Given the description of an element on the screen output the (x, y) to click on. 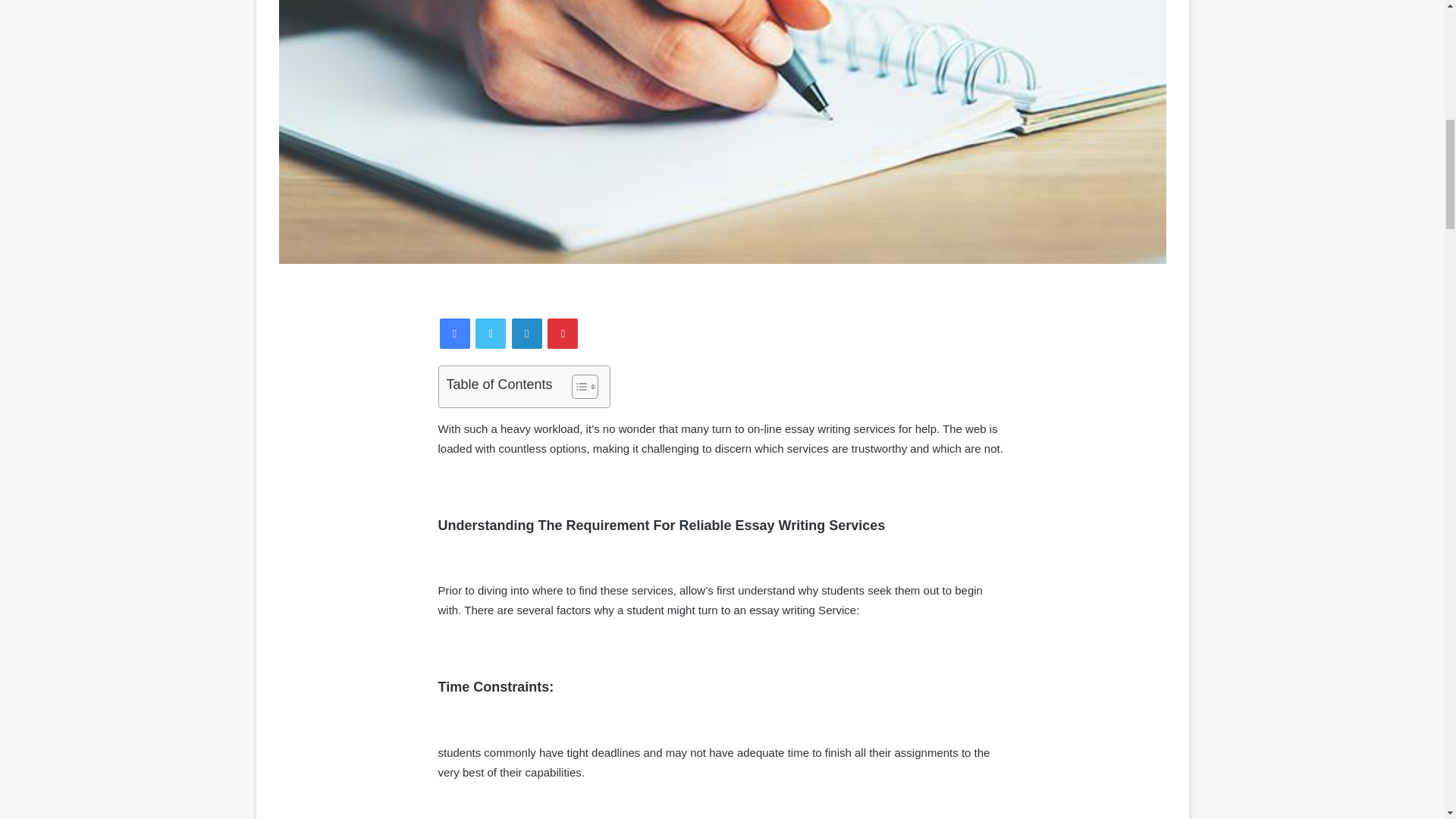
Pinterest (562, 333)
LinkedIn (526, 333)
Facebook (454, 333)
Twitter (490, 333)
